Given the description of an element on the screen output the (x, y) to click on. 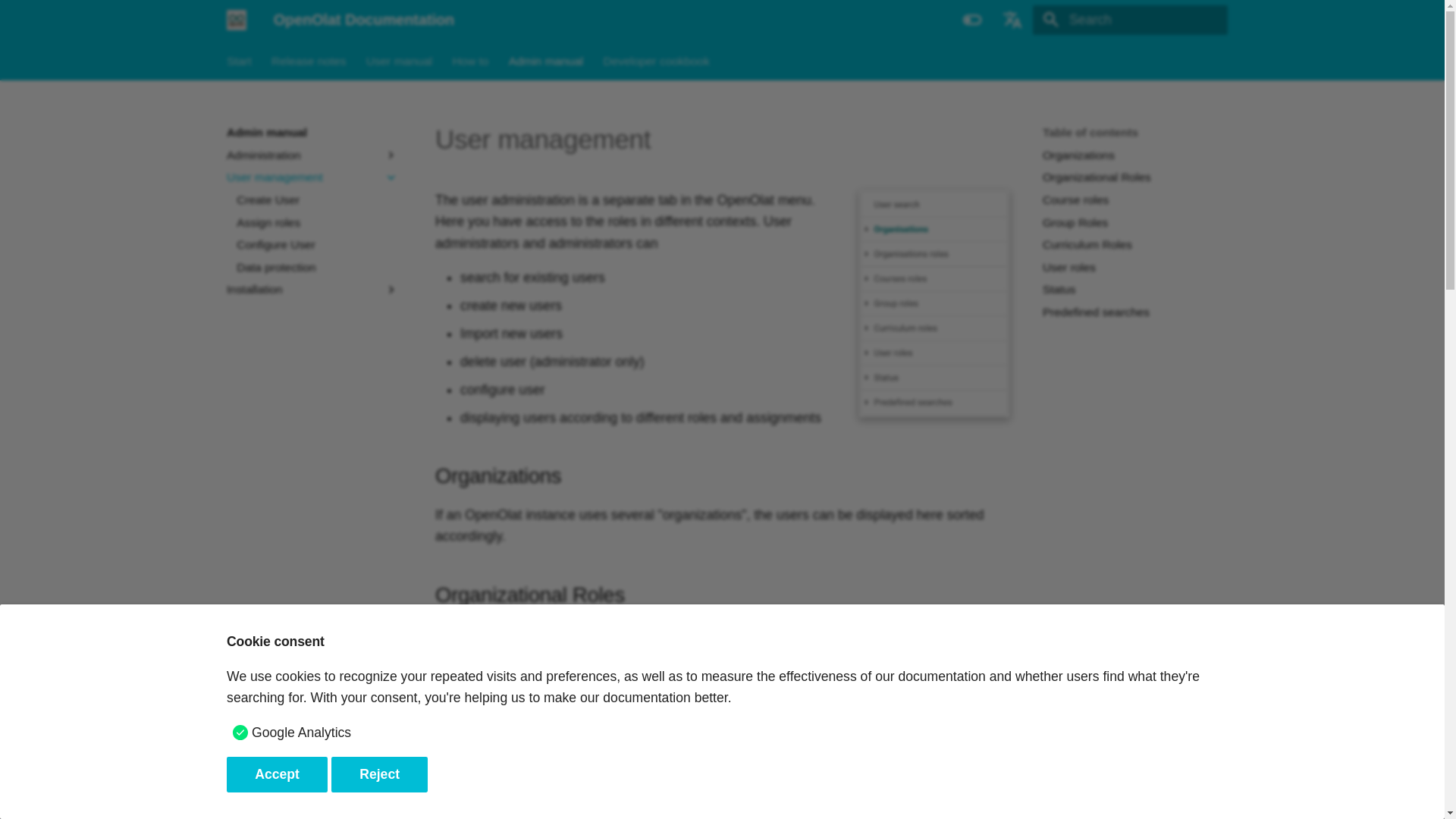
Release notes (308, 60)
User manual (399, 60)
OpenOlat Documentation (236, 19)
Start (239, 60)
How to (469, 60)
Admin manual (545, 60)
Switch to dark mode (973, 19)
Developer cookbook (655, 60)
